Given the description of an element on the screen output the (x, y) to click on. 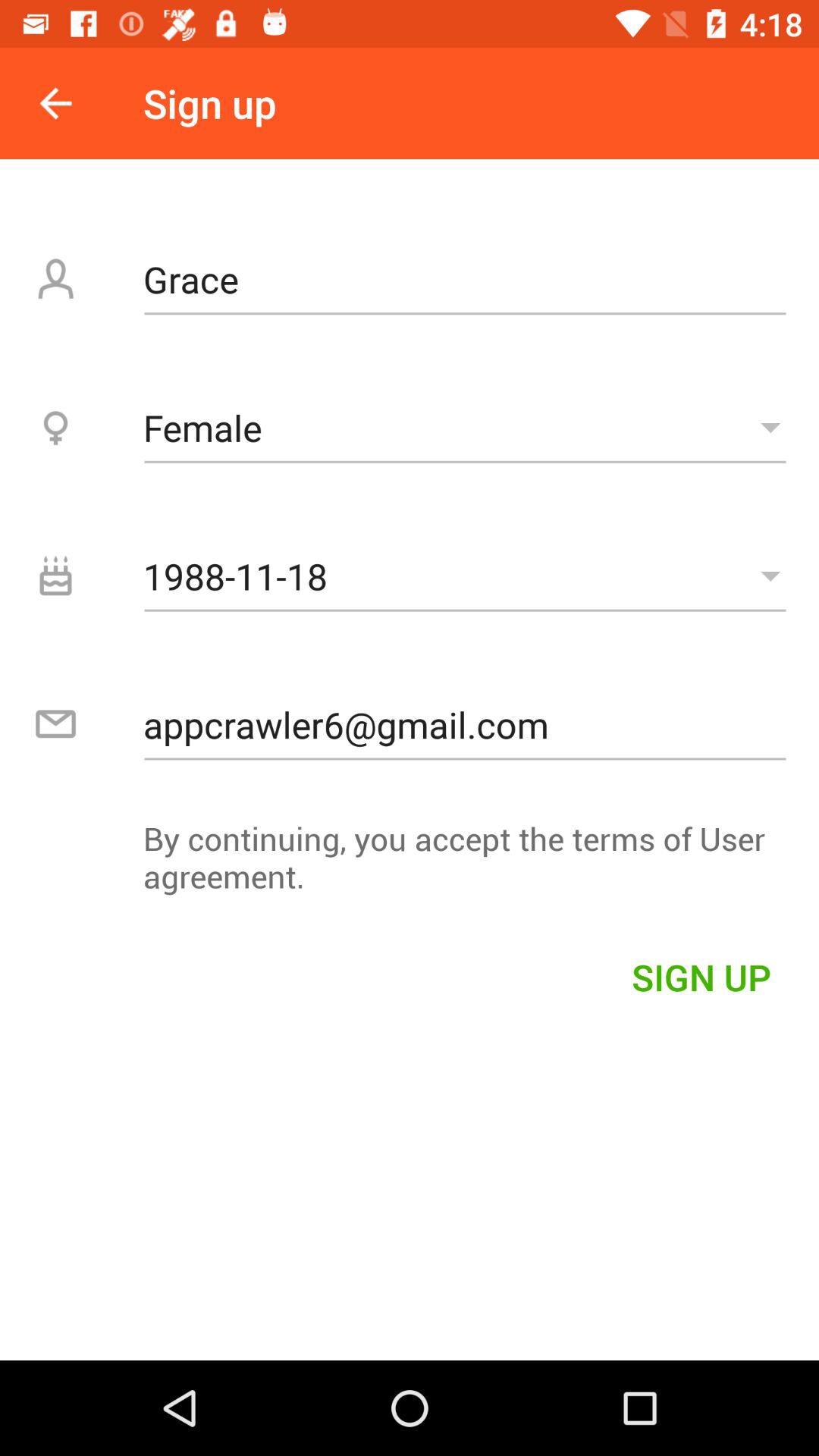
turn off icon above sign up item (409, 864)
